Given the description of an element on the screen output the (x, y) to click on. 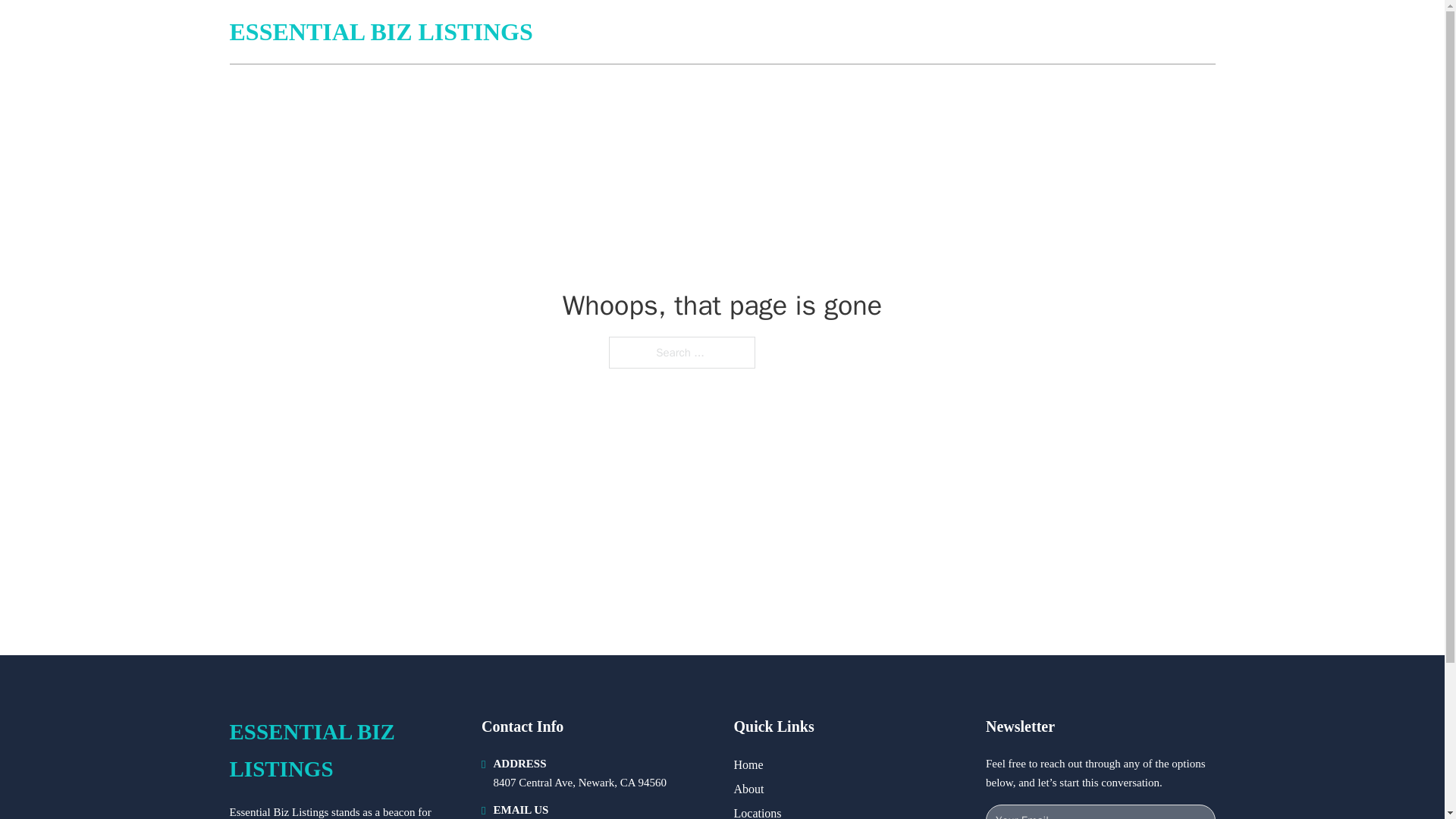
Locations (757, 811)
About (748, 788)
LOCATIONS (1105, 31)
HOME (1032, 31)
ESSENTIAL BIZ LISTINGS (380, 31)
ESSENTIAL BIZ LISTINGS (343, 750)
Home (747, 764)
